Given the description of an element on the screen output the (x, y) to click on. 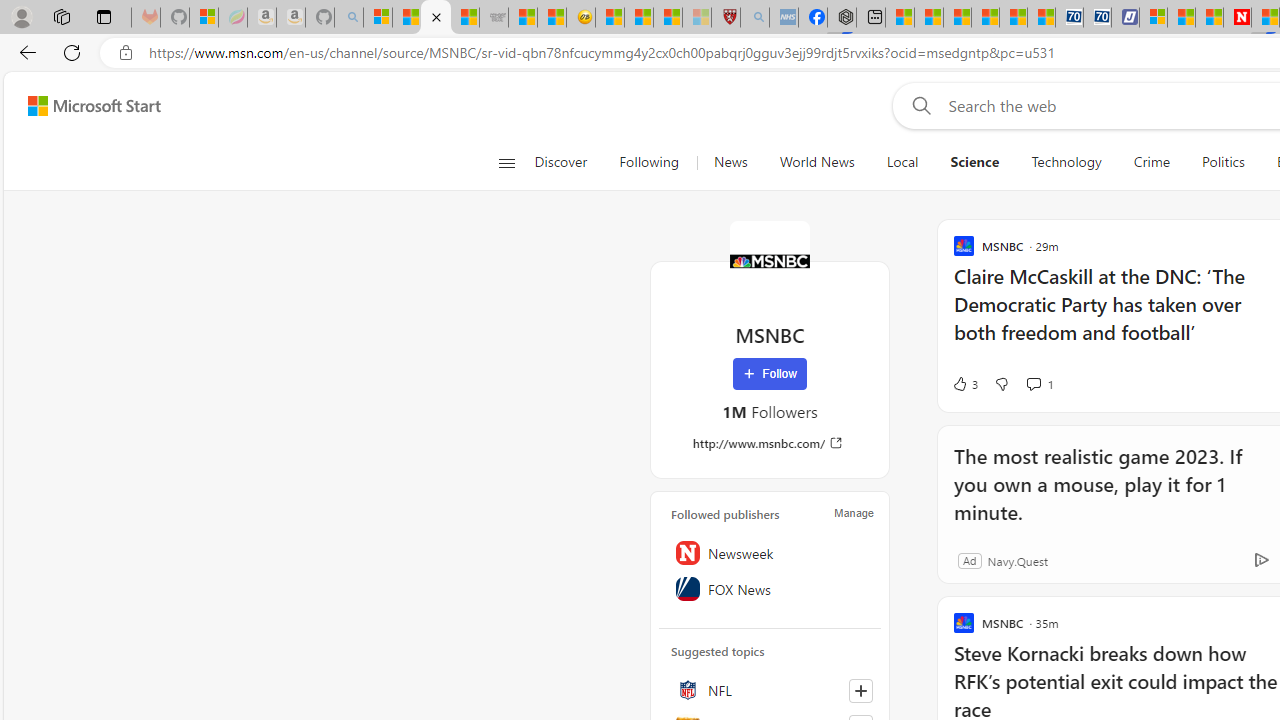
Technology (1066, 162)
Nordace - Nordace Siena Is Not An Ordinary Backpack (842, 17)
3 Like (964, 384)
World News (817, 162)
Skip to footer (82, 105)
